Given the description of an element on the screen output the (x, y) to click on. 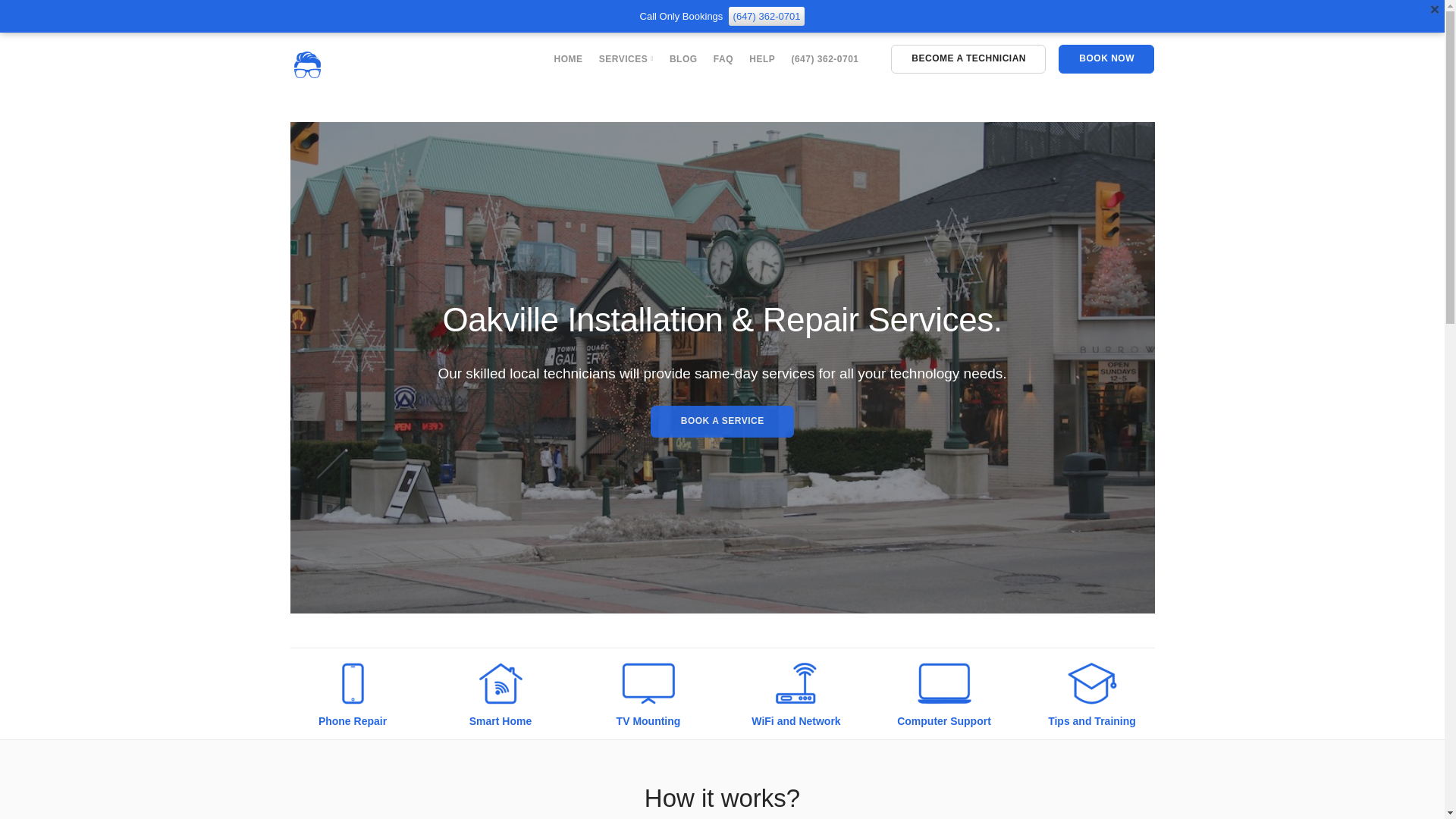
BOOK NOW (1106, 59)
FAQ (723, 59)
smart-home (499, 683)
Tips and Training (1091, 720)
BOOK A SERVICE (721, 421)
phone-repair (352, 683)
computer-support (943, 683)
BECOME A TECHNICIAN (968, 59)
training (1090, 683)
tv-mounting (648, 683)
WiFi and Network (795, 720)
Computer Support (943, 720)
HOME (568, 59)
Phone Repair (352, 720)
HELP (761, 59)
